Given the description of an element on the screen output the (x, y) to click on. 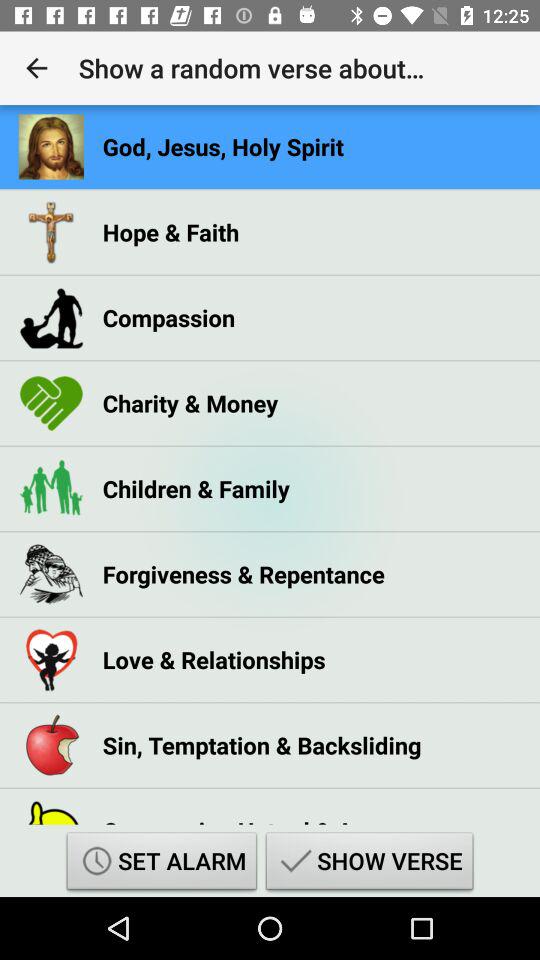
swipe to love & relationships (213, 659)
